Given the description of an element on the screen output the (x, y) to click on. 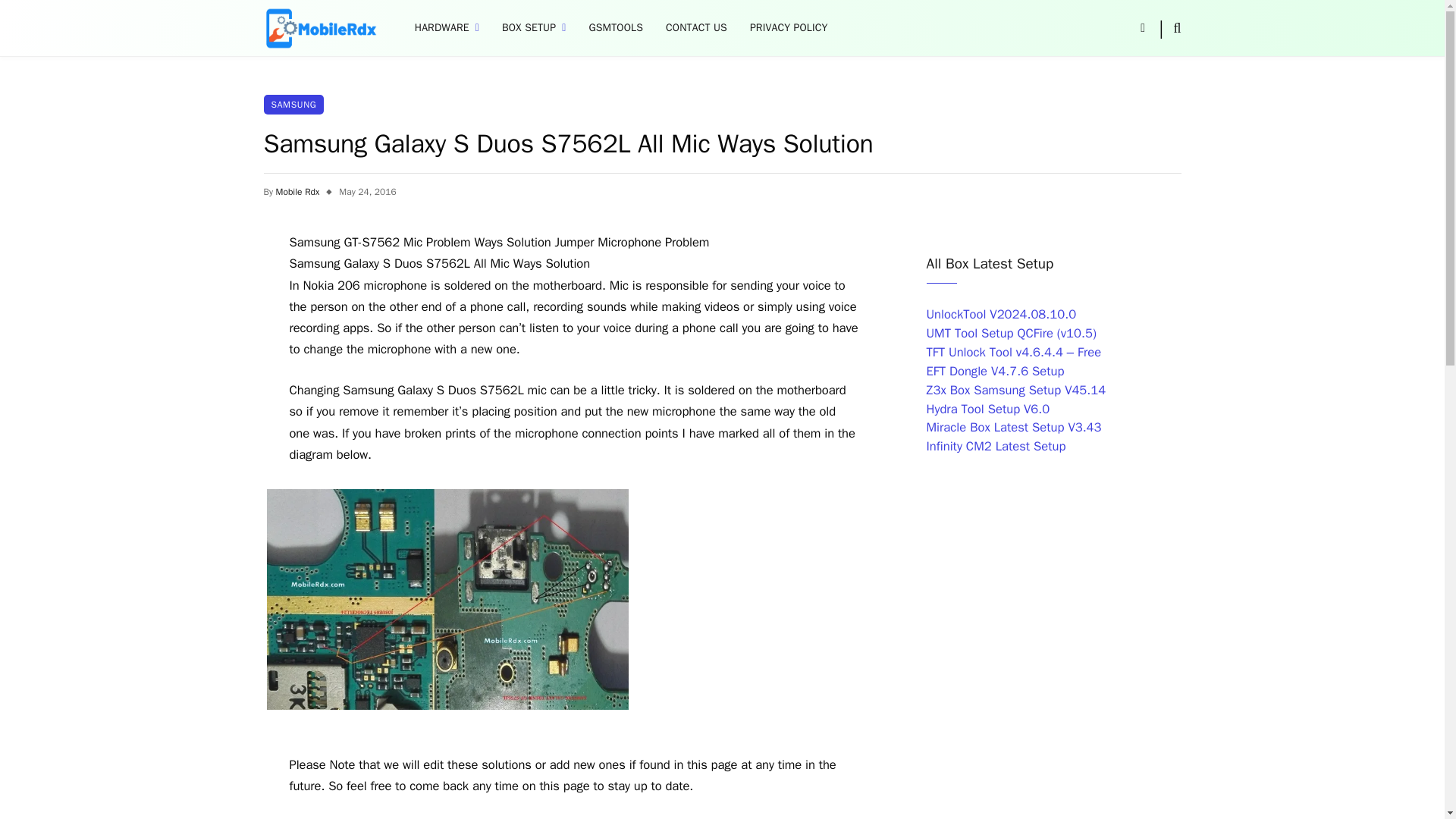
MobileRdx (320, 28)
HARDWARE (446, 28)
GSMTOOLS (614, 28)
BOX SETUP (533, 28)
Switch to Dark Design - easier on eyes. (1142, 28)
SAMSUNG (293, 104)
PRIVACY POLICY (789, 28)
Posts by Mobile Rdx (298, 191)
Samsung Galaxy S Duos S7562L All Mic Ways Solution (447, 599)
CONTACT US (695, 28)
